Given the description of an element on the screen output the (x, y) to click on. 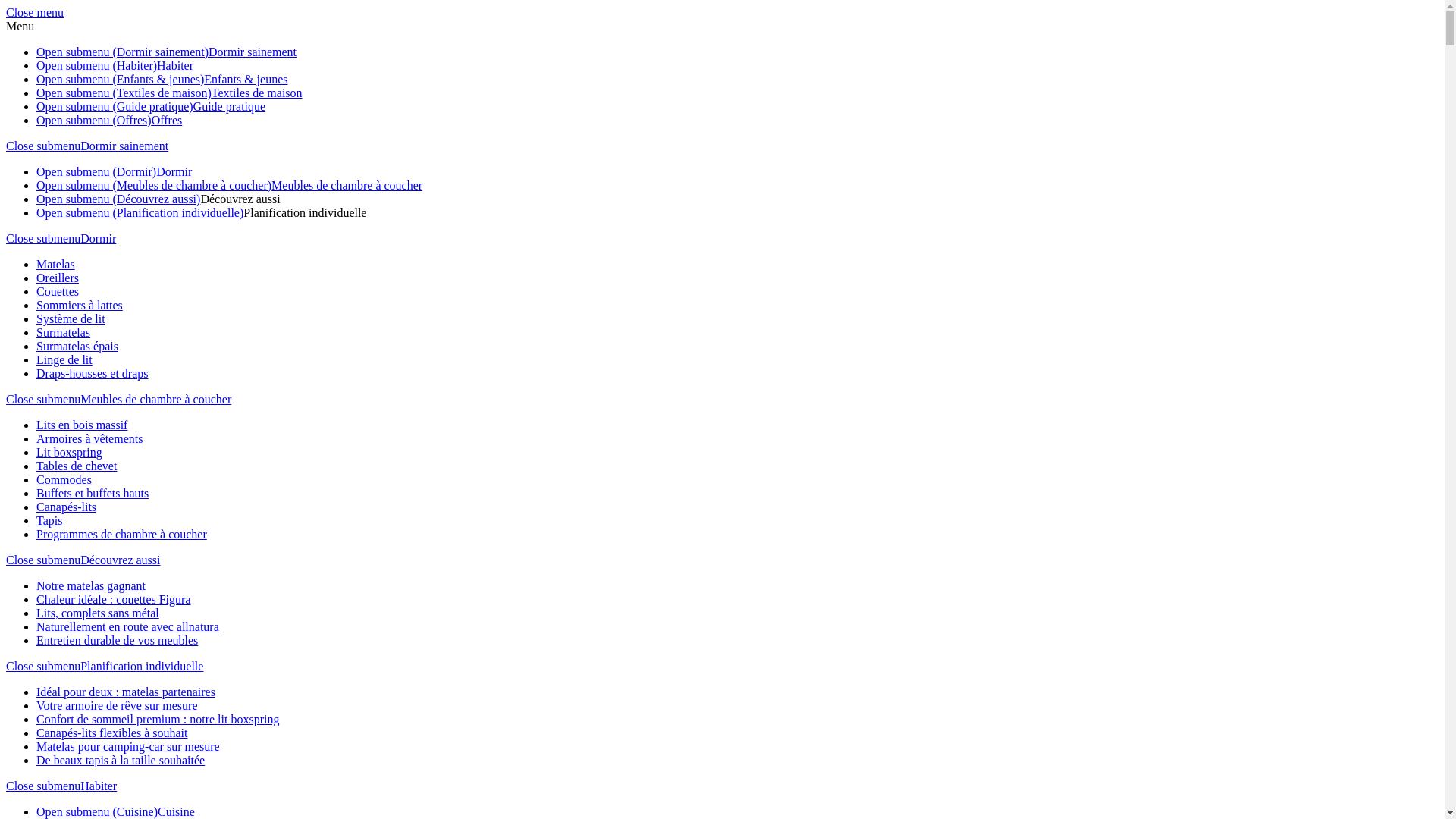
Confort de sommeil premium : notre lit boxspring Element type: text (157, 718)
Cuisine Element type: text (175, 811)
Buffets et buffets hauts Element type: text (92, 492)
Couettes Element type: text (57, 291)
Open submenu (Dormir sainement) Element type: text (122, 51)
Lits en bois massif Element type: text (81, 424)
Close submenu Element type: text (43, 238)
Open submenu (Cuisine) Element type: text (96, 811)
Open submenu (Textiles de maison) Element type: text (123, 92)
Close submenu Element type: text (43, 145)
Open submenu (Habiter) Element type: text (96, 65)
Matelas Element type: text (55, 263)
Entretien durable de vos meubles Element type: text (116, 639)
Close submenu Element type: text (43, 785)
Surmatelas Element type: text (63, 332)
Open submenu (Enfants & jeunes) Element type: text (119, 78)
Dormir Element type: text (98, 238)
Habiter Element type: text (174, 65)
Habiter Element type: text (98, 785)
Textiles de maison Element type: text (256, 92)
Tables de chevet Element type: text (76, 465)
Naturellement en route avec allnatura Element type: text (127, 626)
Guide pratique Element type: text (229, 106)
Dormir Element type: text (173, 171)
Close submenu Element type: text (43, 398)
Enfants & jeunes Element type: text (245, 78)
Notre matelas gagnant Element type: text (90, 585)
Open submenu (Offres) Element type: text (93, 119)
Linge de lit Element type: text (64, 359)
Commodes Element type: text (63, 479)
Open submenu (Dormir) Element type: text (96, 171)
Lit boxspring Element type: text (69, 451)
Close submenu Element type: text (43, 559)
Matelas pour camping-car sur mesure Element type: text (127, 746)
Tapis Element type: text (49, 520)
Oreillers Element type: text (57, 277)
Offres Element type: text (166, 119)
Planification individuelle Element type: text (304, 212)
Dormir sainement Element type: text (124, 145)
Dormir sainement Element type: text (252, 51)
Close menu Element type: text (34, 12)
Planification individuelle Element type: text (141, 665)
Open submenu (Planification individuelle) Element type: text (139, 212)
Open submenu (Guide pratique) Element type: text (114, 106)
Draps-housses et draps Element type: text (92, 373)
Close submenu Element type: text (43, 665)
